Given the description of an element on the screen output the (x, y) to click on. 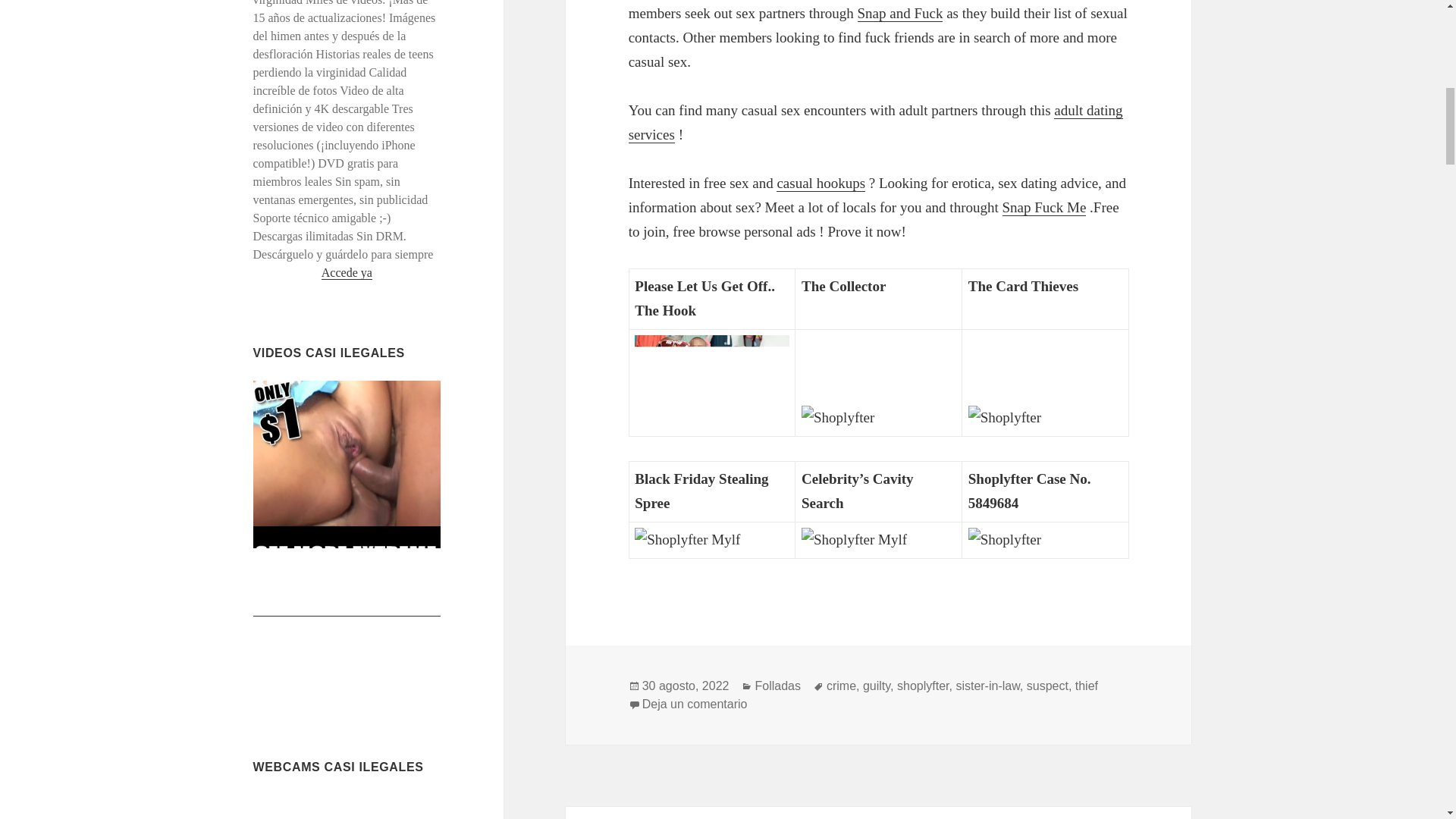
 Please Let Us Get Off.. The Hook  (711, 378)
Black Friday Stealing Spree (711, 539)
 Celebrity's Cavity Search (879, 539)
Accede ya (346, 273)
The Card Thieves (1045, 417)
The collector (879, 417)
WEBCAMS CASI ILEGALES (338, 766)
